Given the description of an element on the screen output the (x, y) to click on. 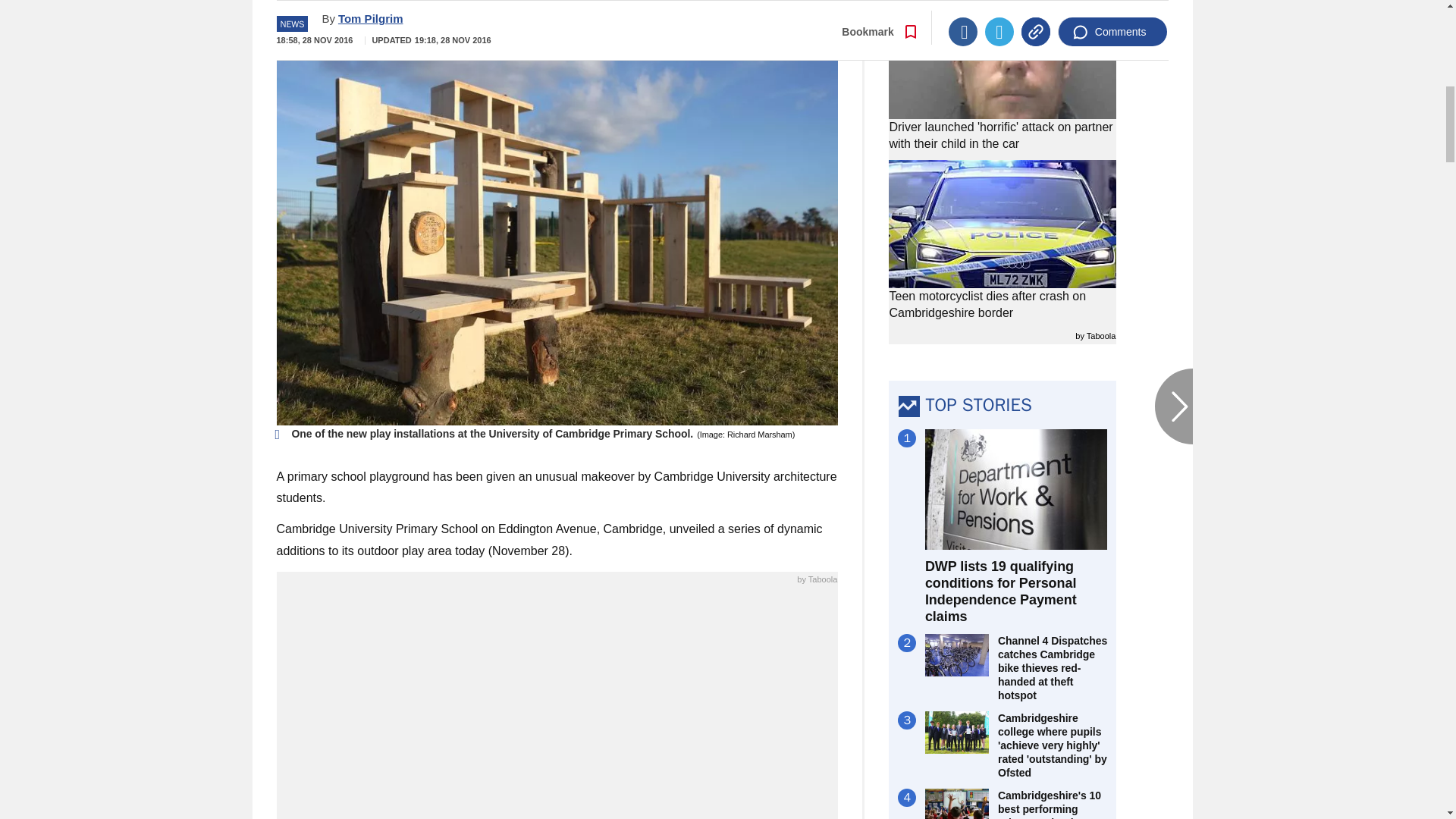
Go (730, 17)
Man in coma after incident in Cambs town (557, 706)
